Given the description of an element on the screen output the (x, y) to click on. 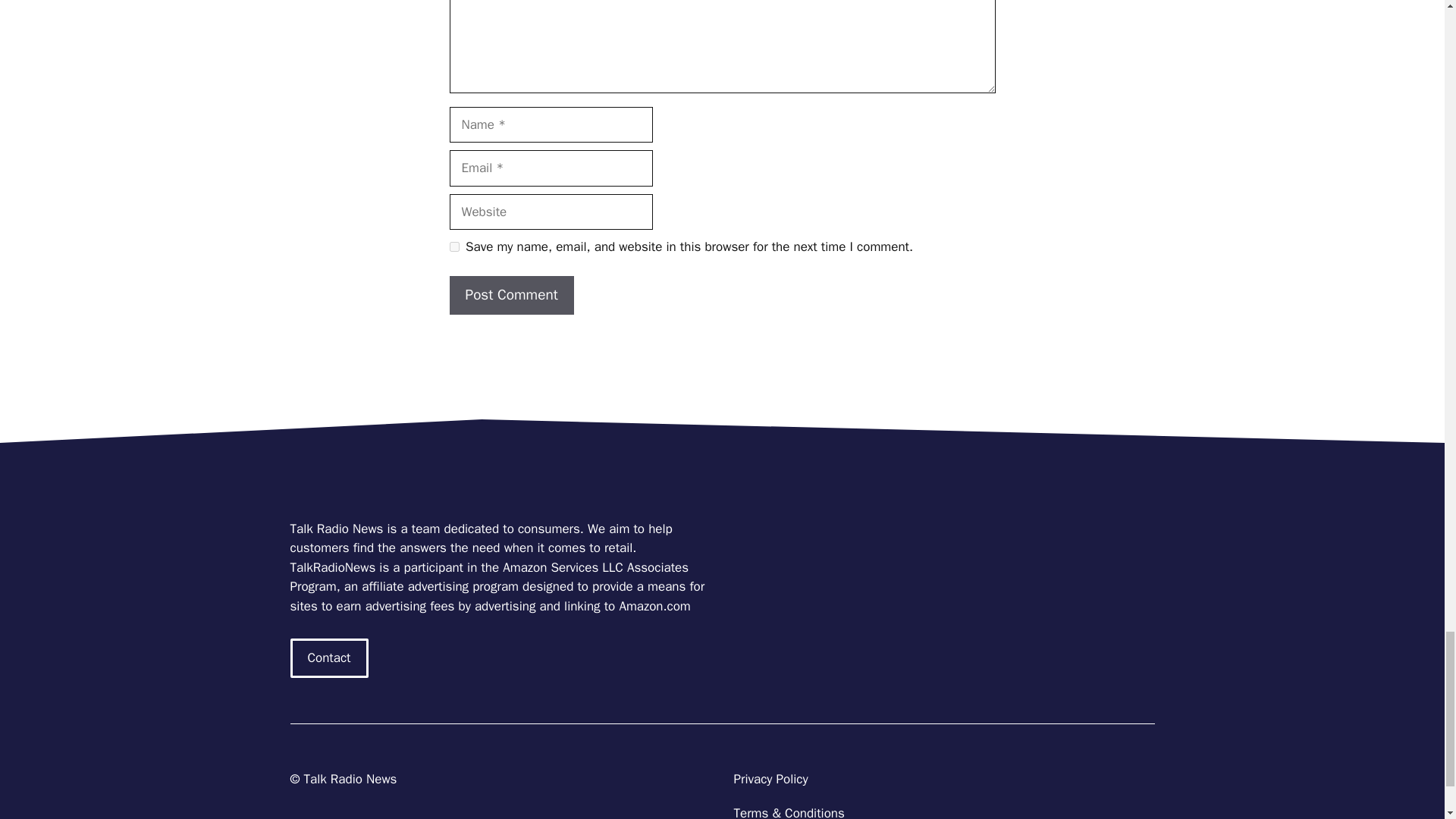
Contact (328, 658)
yes (453, 246)
Post Comment (510, 295)
Post Comment (510, 295)
Privacy Policy (770, 779)
